Given the description of an element on the screen output the (x, y) to click on. 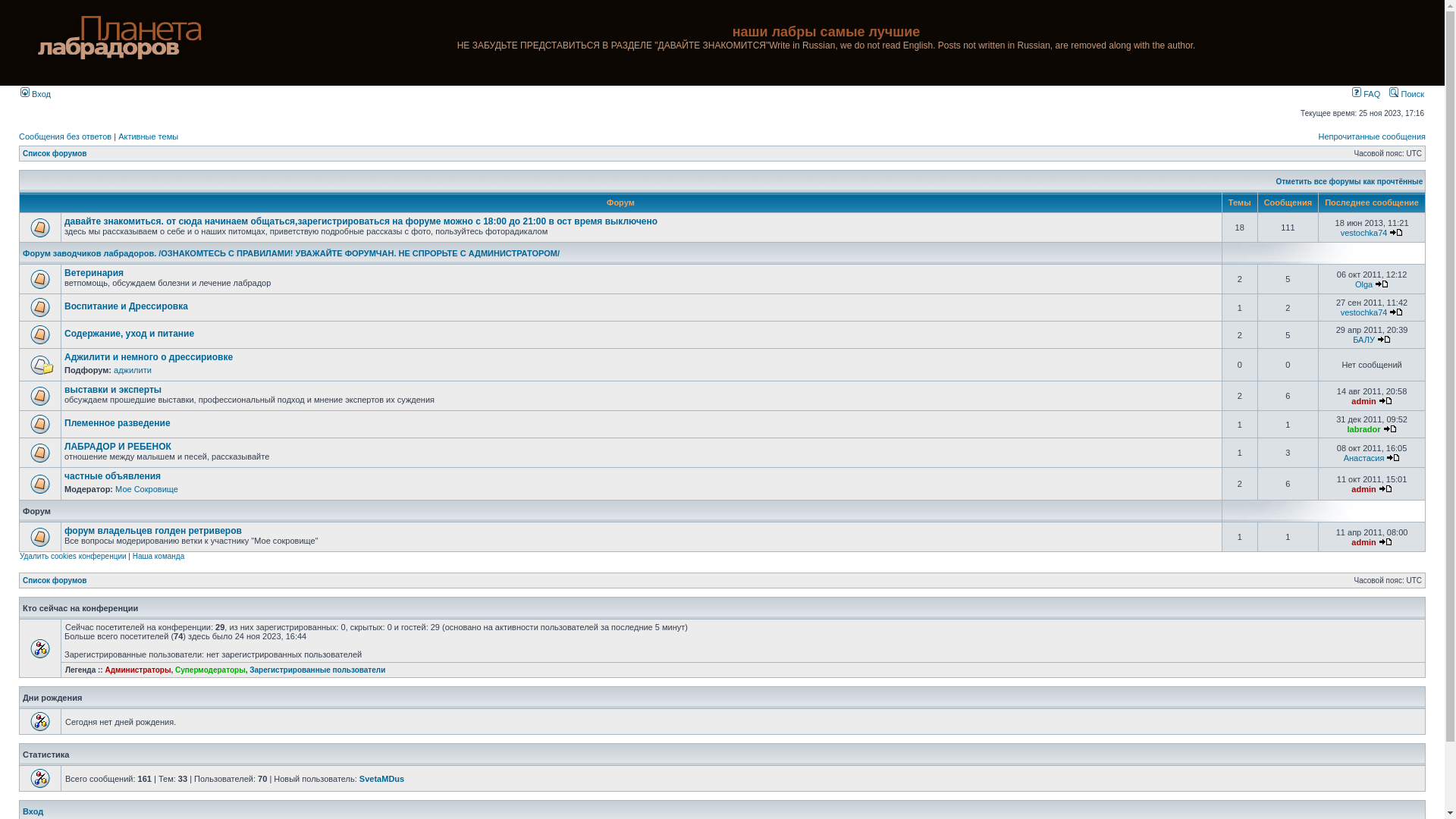
admin Element type: text (1363, 541)
vestochka74 Element type: text (1363, 231)
vestochka74 Element type: text (1363, 311)
Olga Element type: text (1363, 283)
admin Element type: text (1363, 487)
FAQ Element type: text (1366, 93)
SvetaMDus Element type: text (381, 777)
admin Element type: text (1363, 399)
labrador Element type: text (1363, 428)
